Given the description of an element on the screen output the (x, y) to click on. 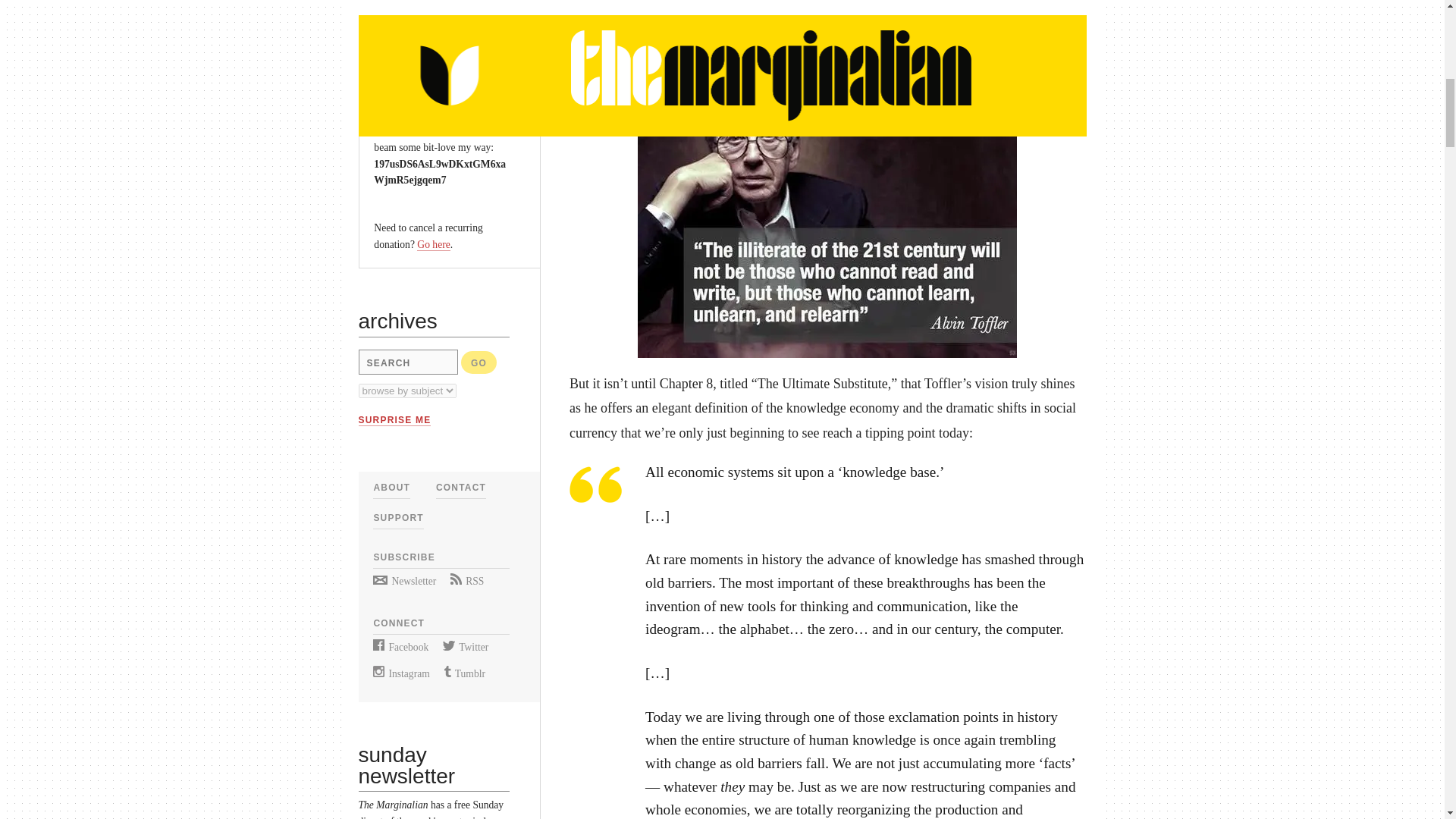
Go here (432, 244)
Go (478, 362)
SURPRISE ME (394, 419)
GIVE NOW (410, 53)
Newsletter (403, 581)
Facebook (400, 646)
Instagram (400, 673)
Tumblr (464, 673)
SUPPORT (397, 517)
RSS (466, 581)
